Given the description of an element on the screen output the (x, y) to click on. 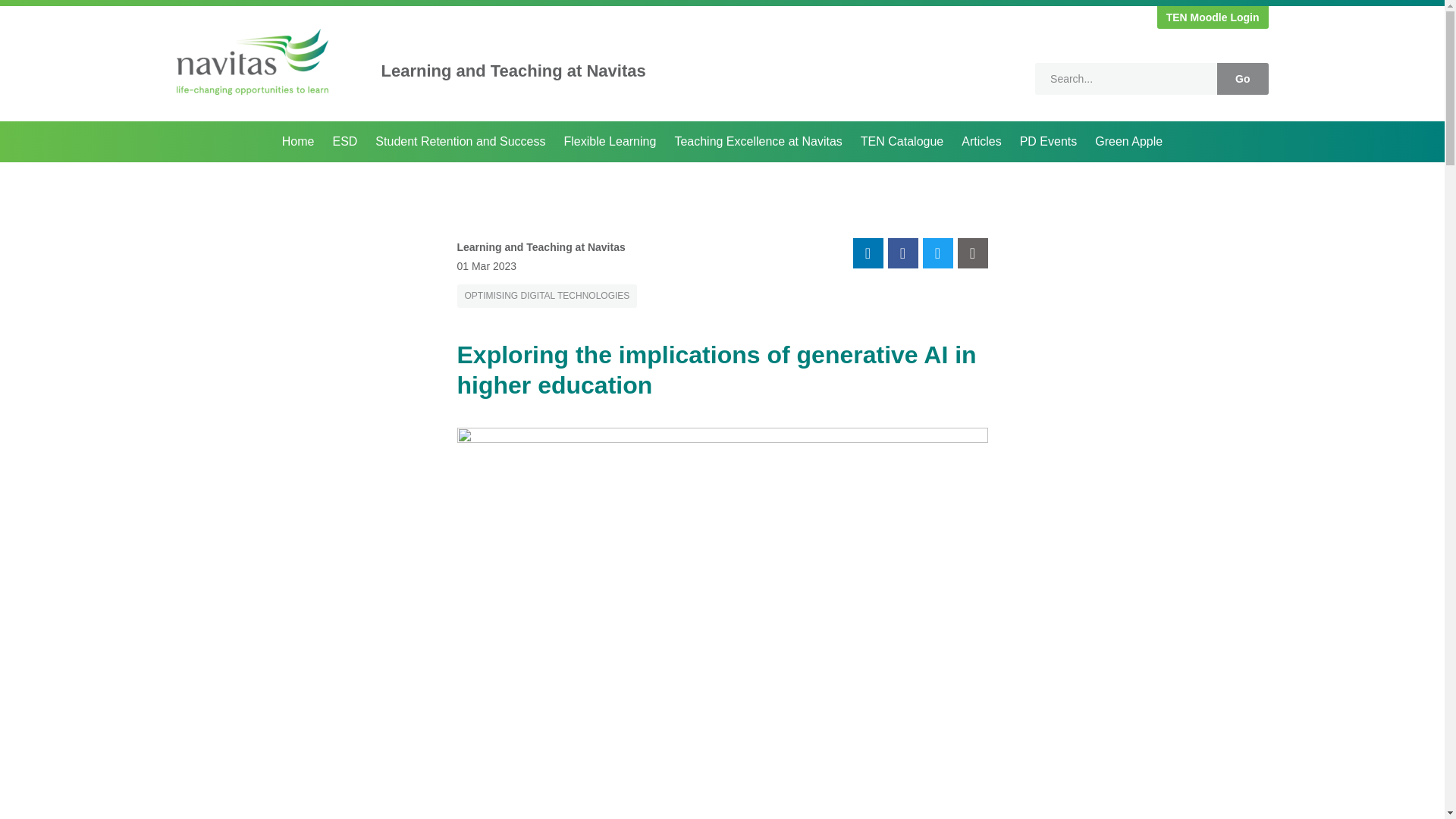
ESD (344, 141)
Student Retention and Success (460, 141)
Click Here (1212, 16)
Teaching Excellence at Navitas (757, 141)
TEN Catalogue (901, 141)
Flexible Learning (609, 141)
Home (298, 141)
Go (1242, 79)
logo-new (251, 61)
TEN Moodle Login (1212, 16)
